Given the description of an element on the screen output the (x, y) to click on. 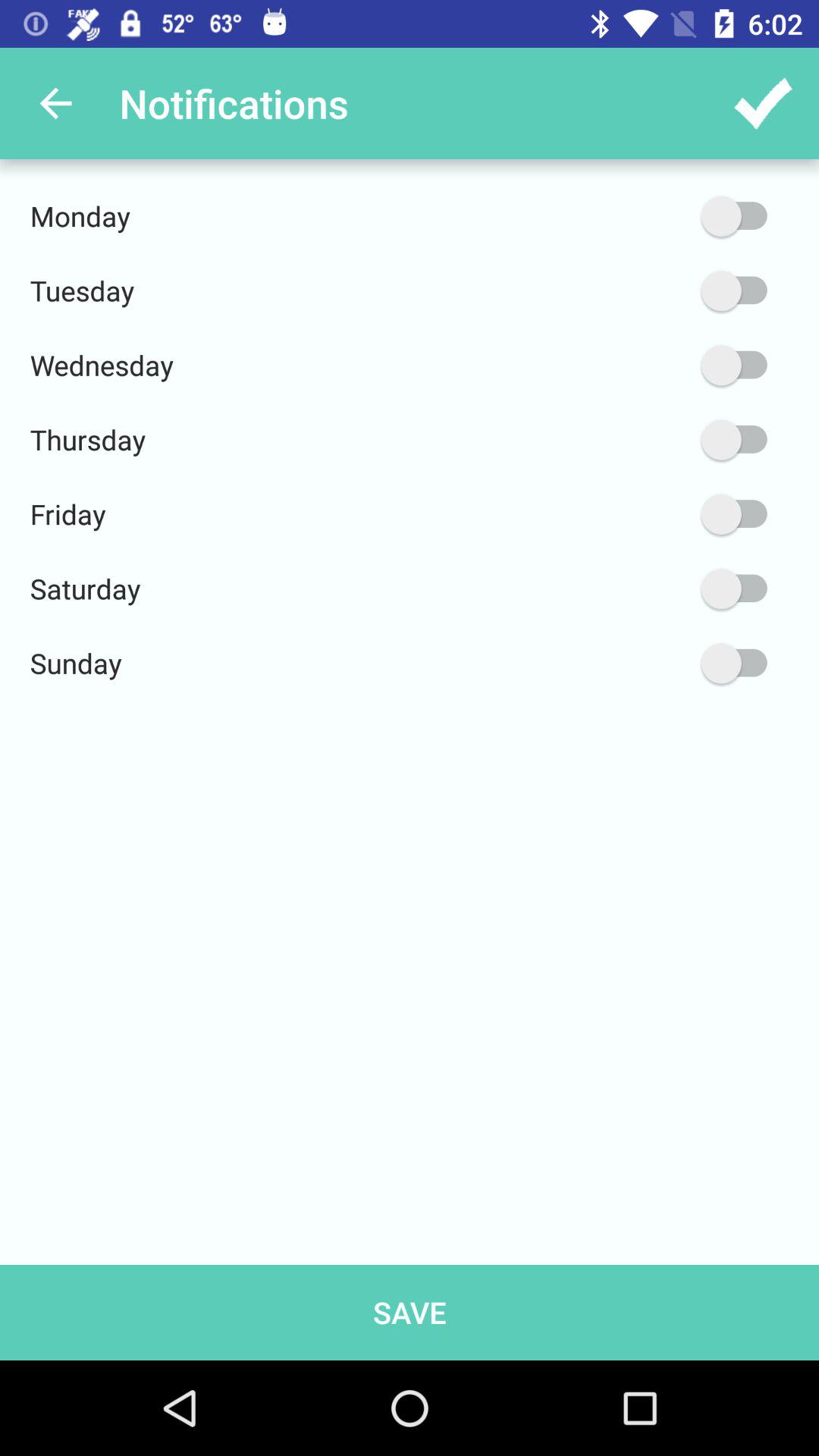
click icon to the right of the friday item (661, 514)
